Given the description of an element on the screen output the (x, y) to click on. 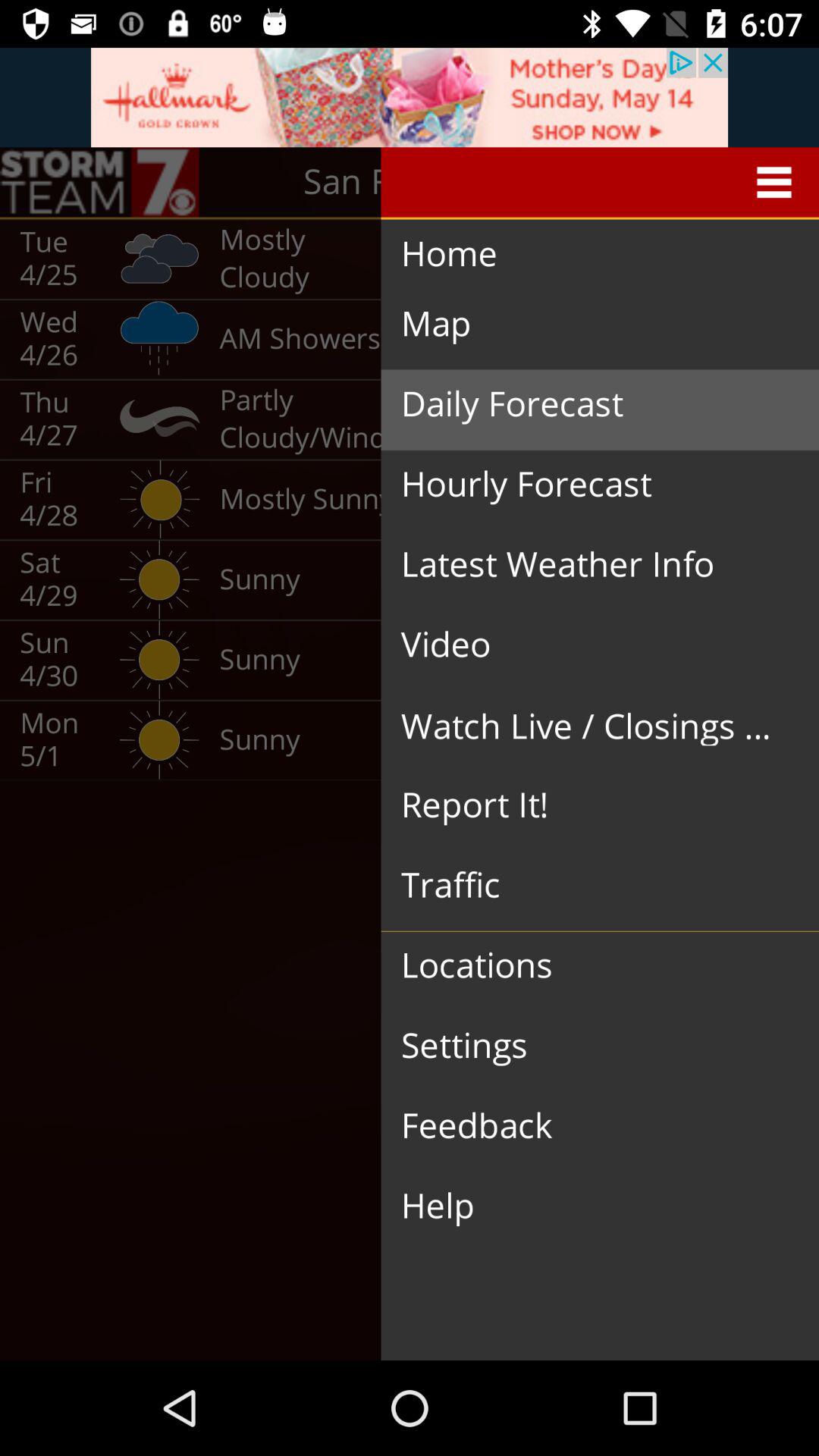
turn on the locations (587, 965)
